Given the description of an element on the screen output the (x, y) to click on. 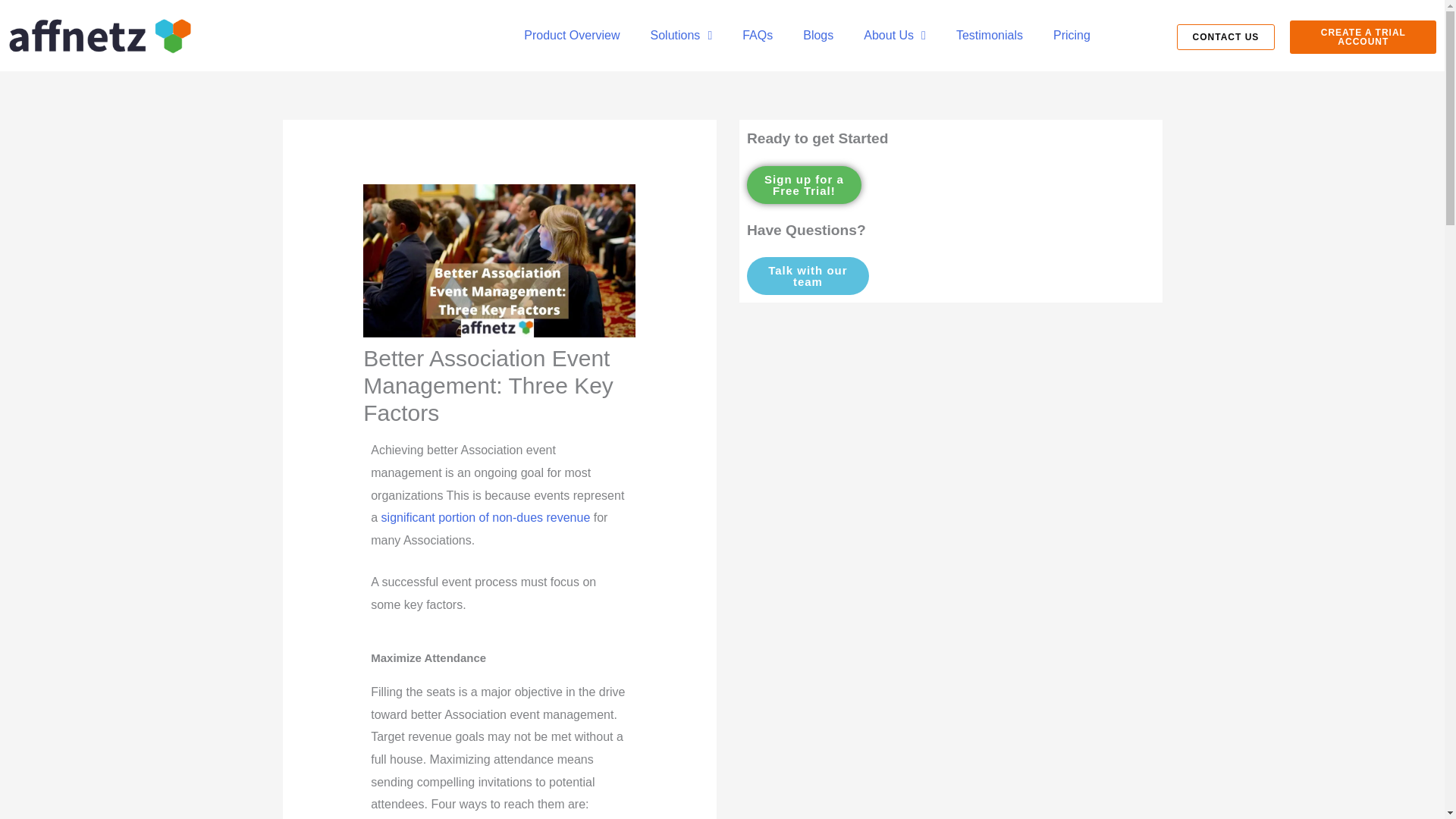
FAQs (756, 35)
Blogs (817, 35)
About Us (894, 35)
Product Overview (571, 35)
Pricing (1071, 35)
Solutions (681, 35)
Testimonials (989, 35)
